Given the description of an element on the screen output the (x, y) to click on. 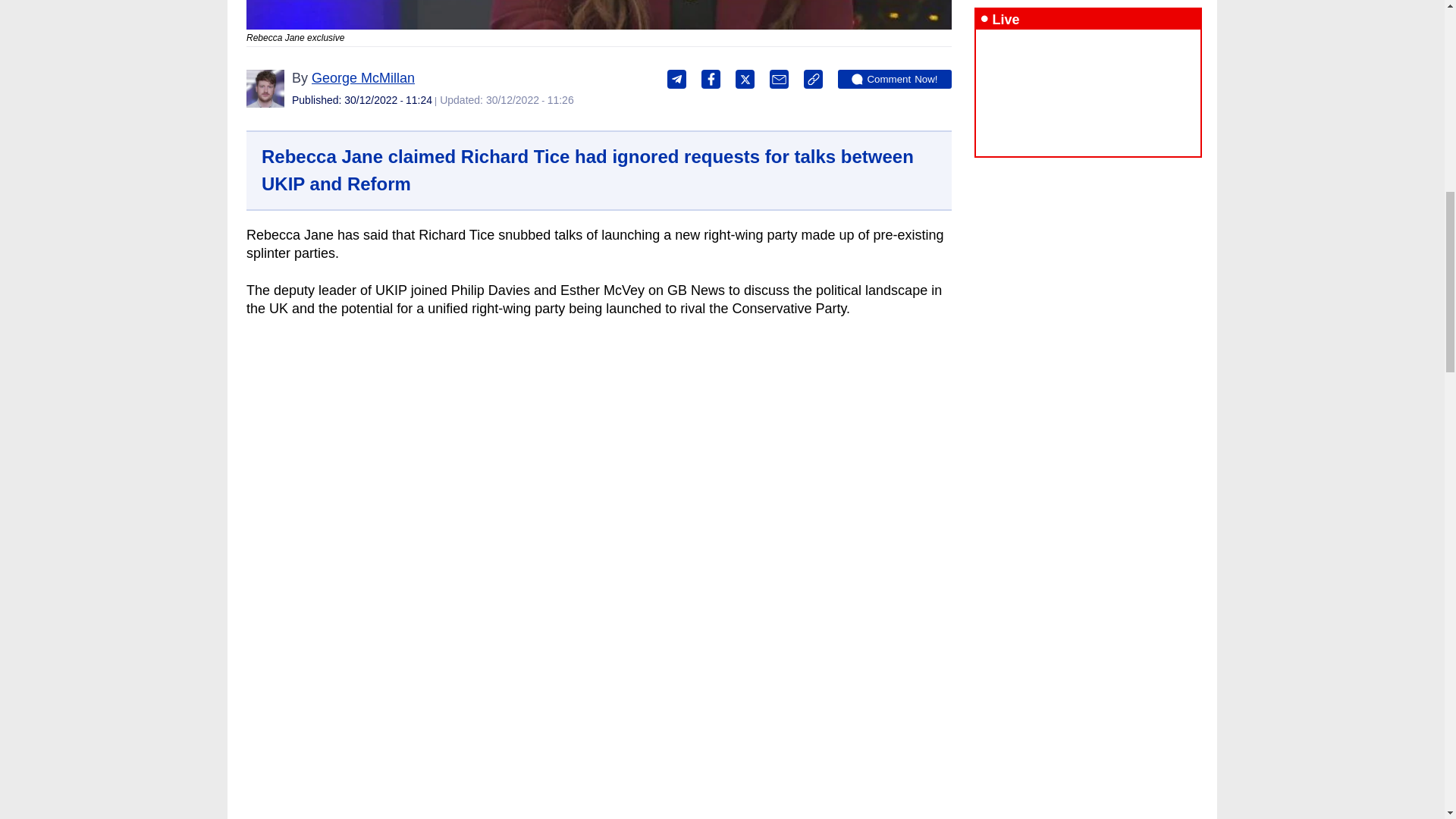
George McMillan (264, 88)
Copy this link to clipboard (812, 78)
George McMillan (362, 77)
